Given the description of an element on the screen output the (x, y) to click on. 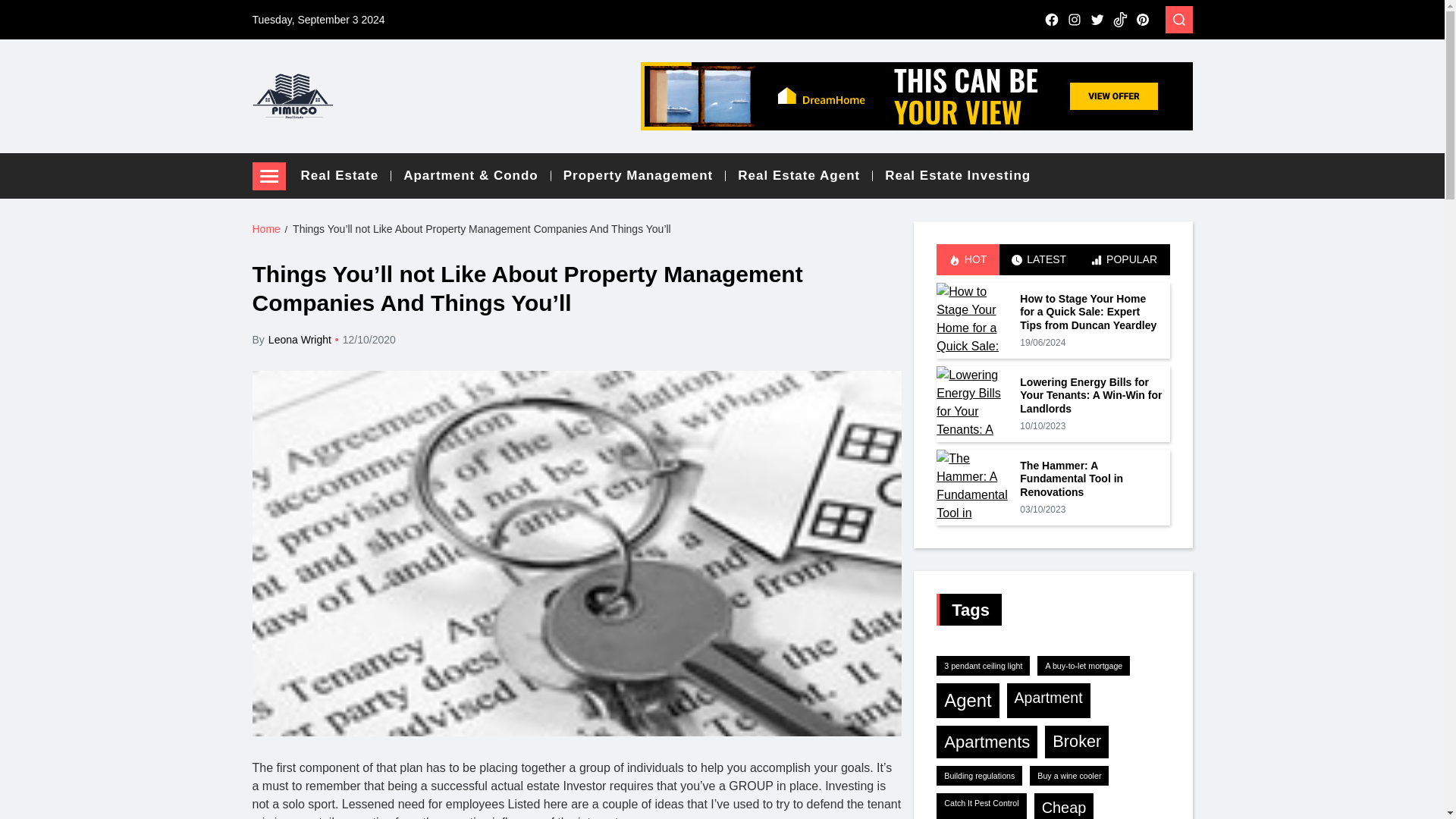
POPULAR (1124, 259)
Property Management (644, 176)
Leona Wright (299, 340)
HOT (967, 259)
Real Estate Investing (957, 176)
The Hammer: A Fundamental Tool in Renovations (973, 487)
Real Estate Agent (805, 176)
